Given the description of an element on the screen output the (x, y) to click on. 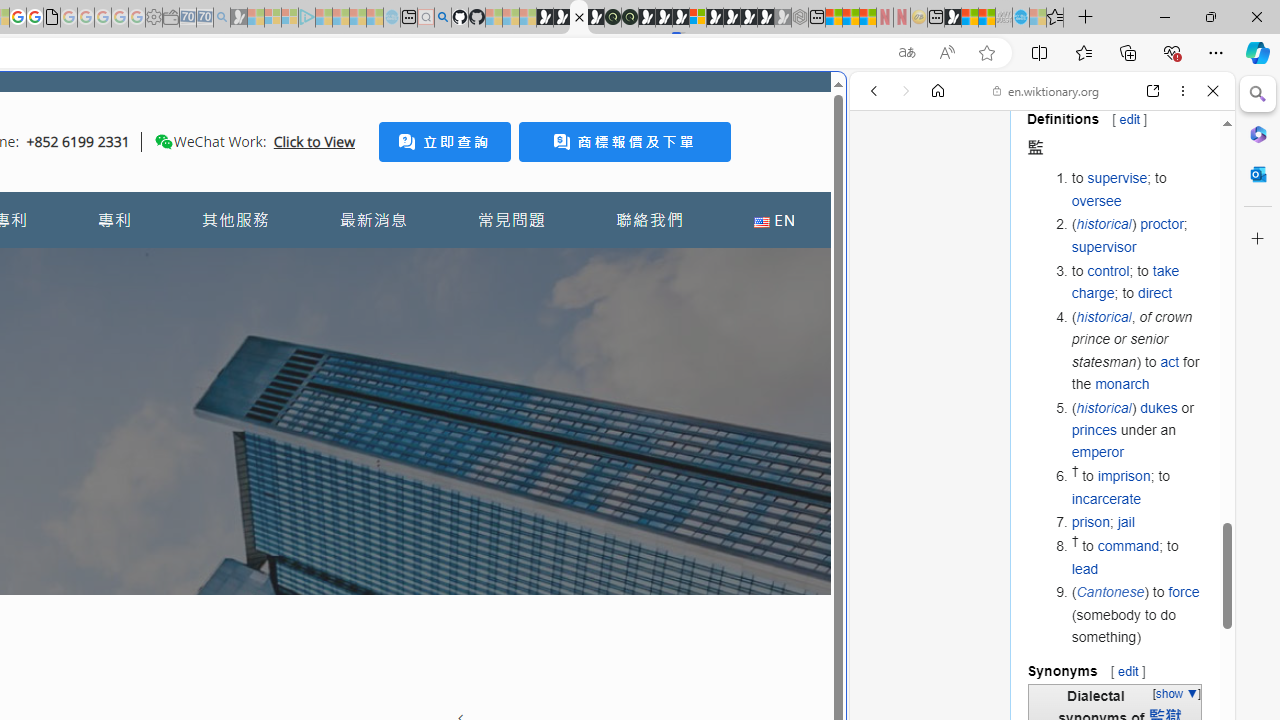
SEARCH TOOLS (1093, 228)
supervisor (1103, 246)
Search Filter, IMAGES (939, 228)
Home | Sky Blue Bikes - Sky Blue Bikes - Sleeping (392, 17)
Class: desktop (163, 141)
